Given the description of an element on the screen output the (x, y) to click on. 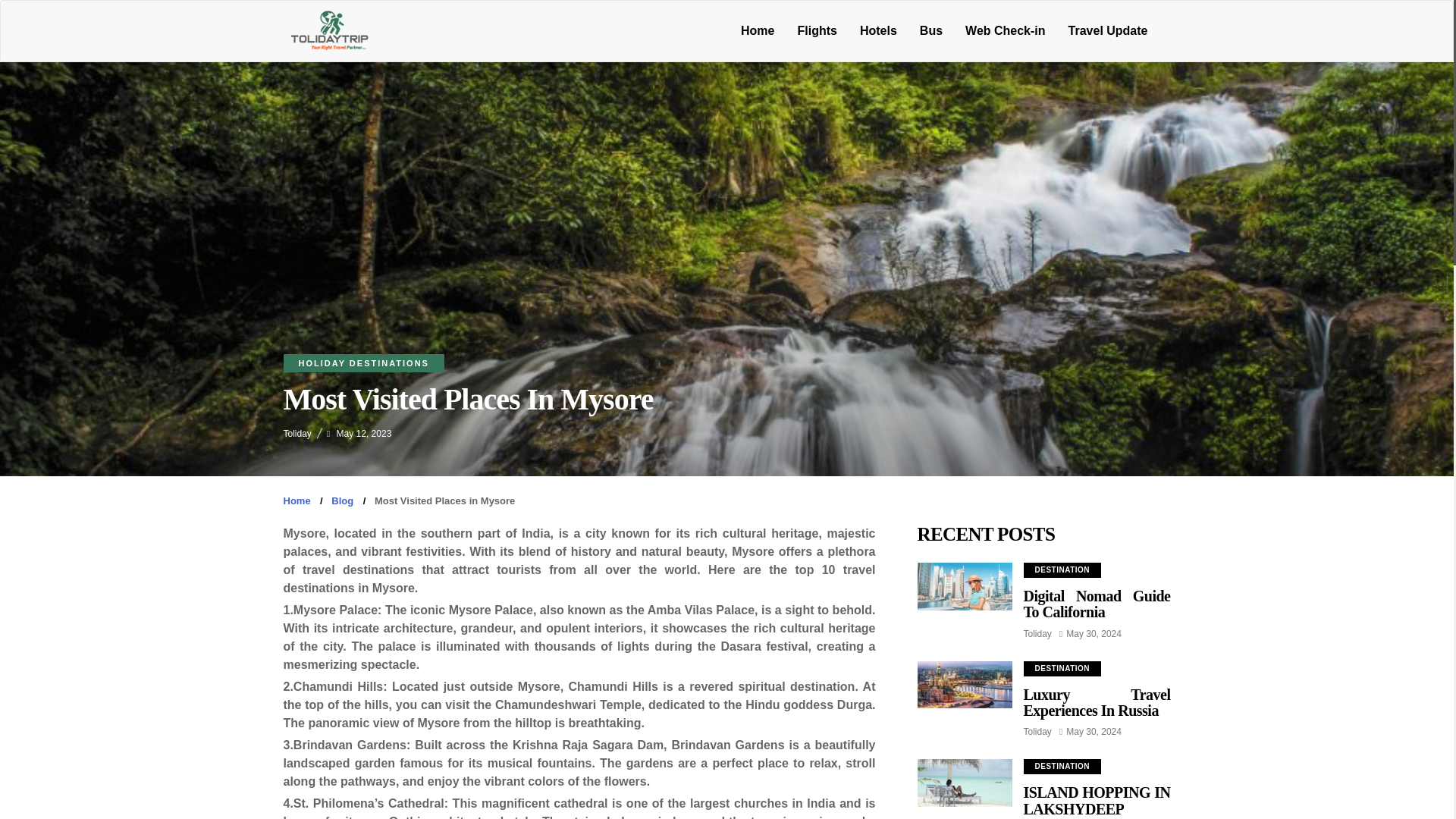
Blog (342, 500)
Bus (930, 30)
HOLIDAY DESTINATIONS (363, 362)
Travel Update (1107, 30)
Web Check-in (1005, 30)
Home (757, 30)
Travel Update (1107, 30)
Home (757, 30)
Hotels (878, 30)
Flights (816, 30)
